Given the description of an element on the screen output the (x, y) to click on. 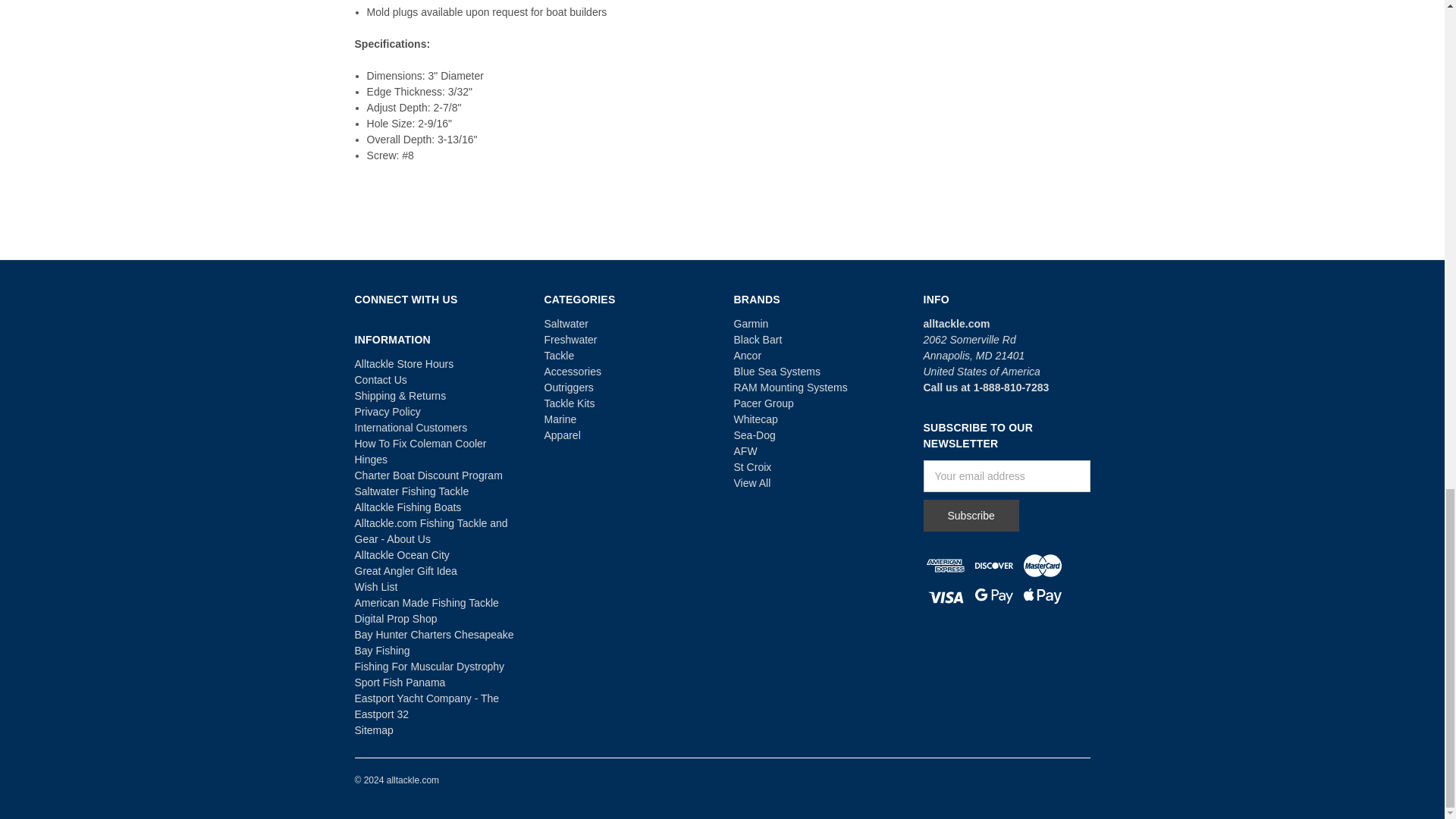
Subscribe (971, 515)
